Given the description of an element on the screen output the (x, y) to click on. 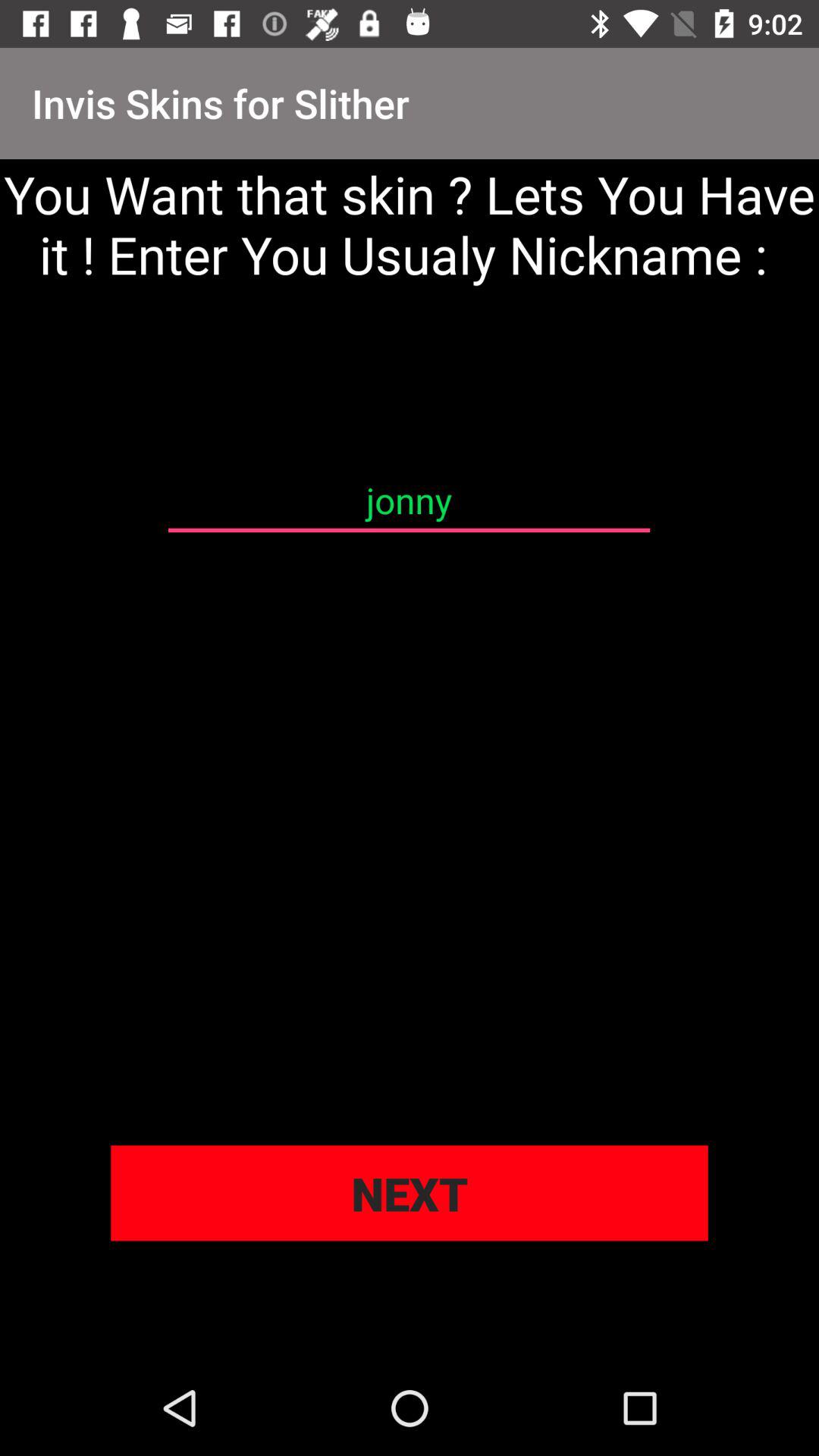
turn on icon above next item (409, 501)
